Given the description of an element on the screen output the (x, y) to click on. 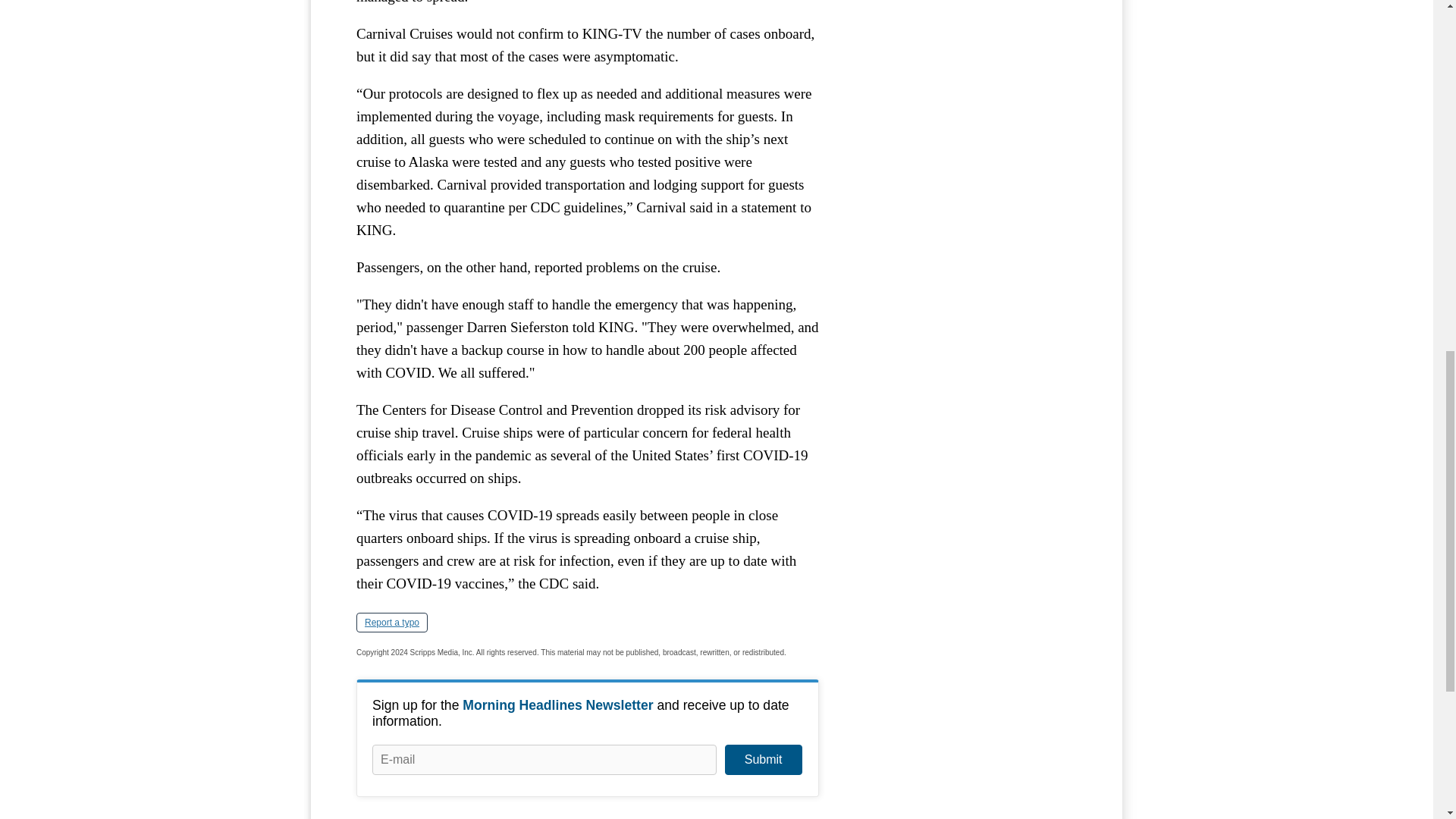
Submit (763, 759)
